Given the description of an element on the screen output the (x, y) to click on. 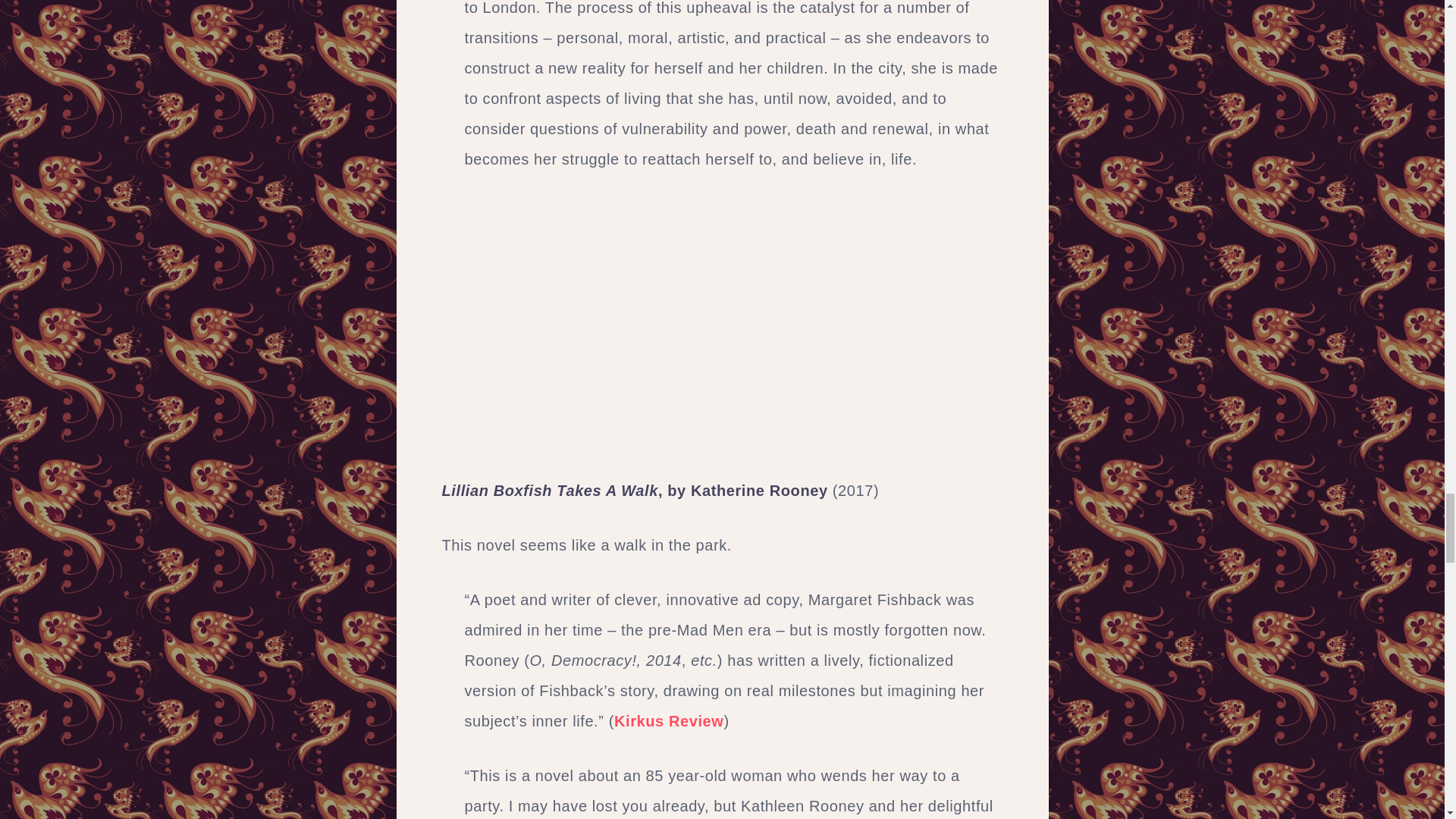
Kirkus Review (668, 720)
